Given the description of an element on the screen output the (x, y) to click on. 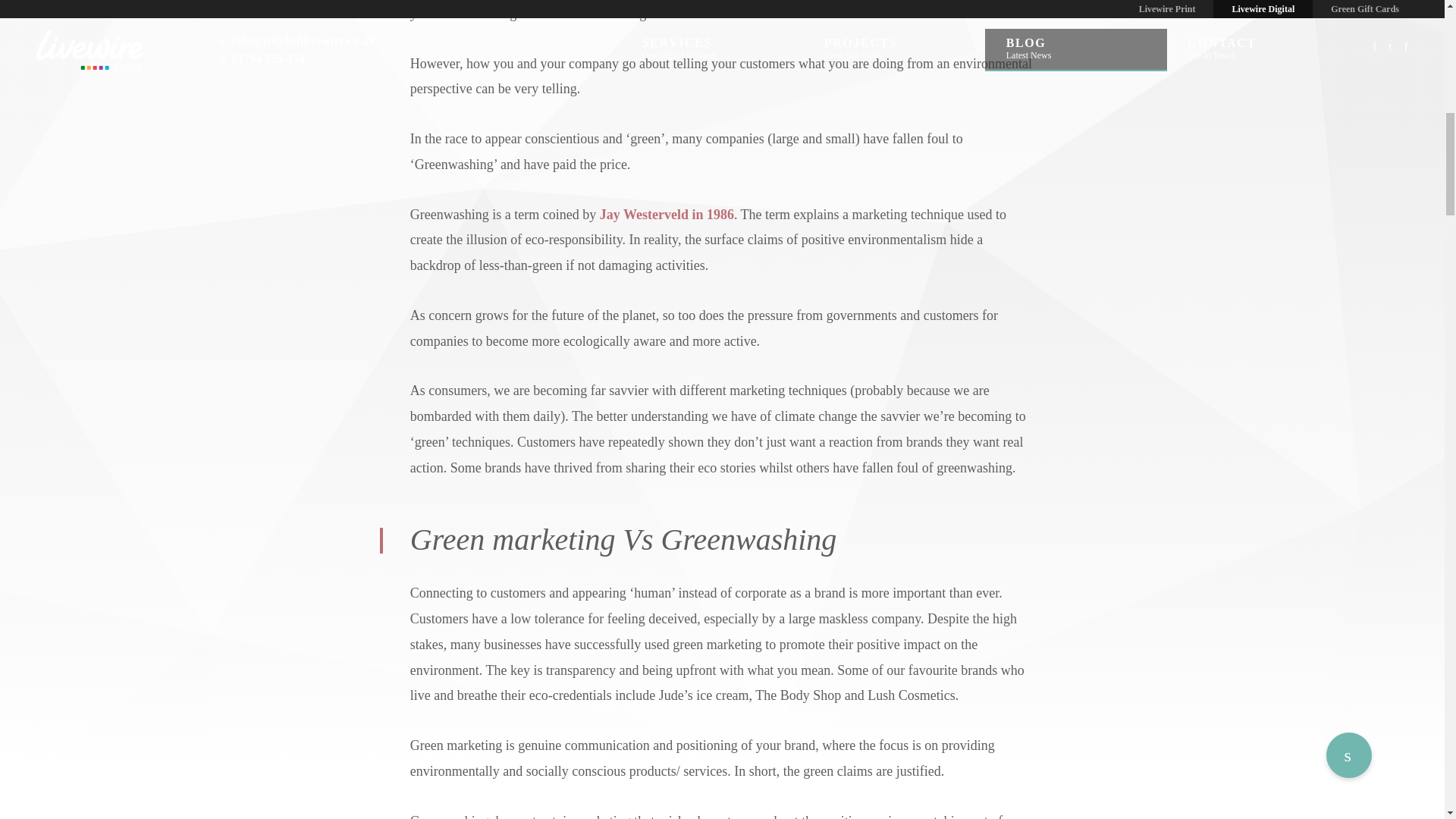
Jay Westerveld in 1986 (666, 214)
